Given the description of an element on the screen output the (x, y) to click on. 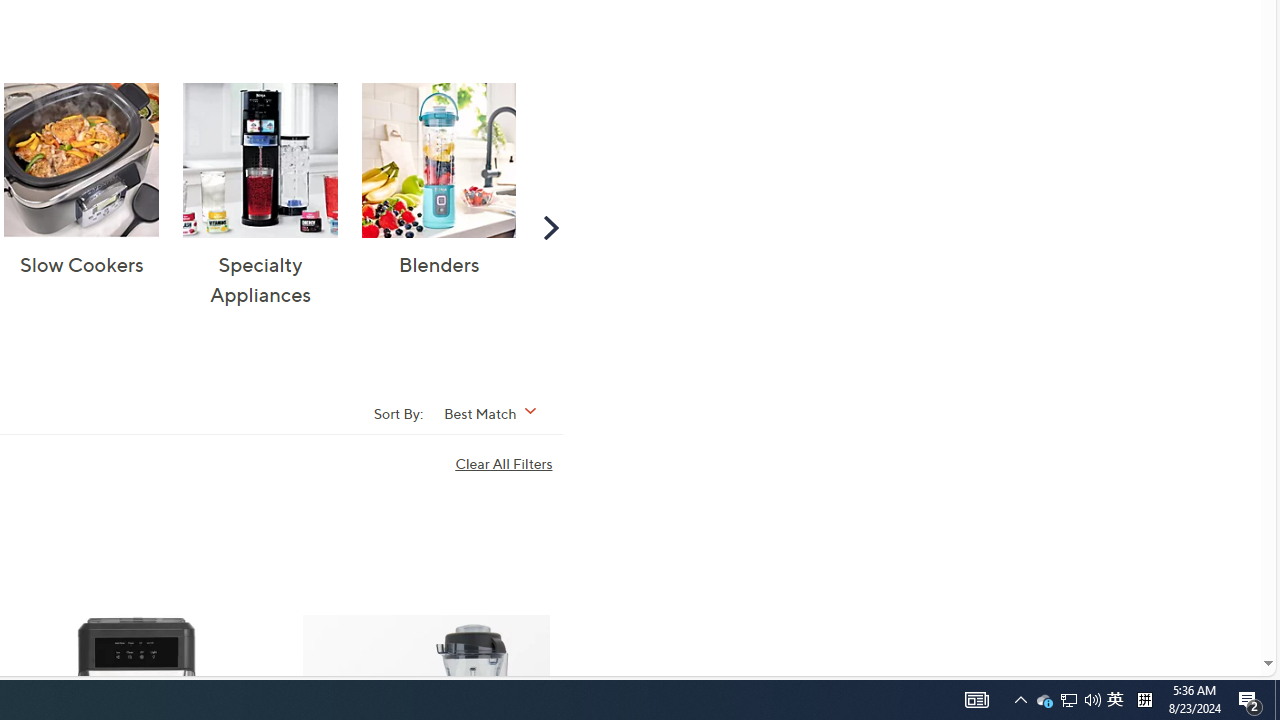
Scroll Right (550, 225)
Specialty Appliances (260, 160)
Clear All Filters (508, 463)
Slow Cookers Slow Cookers (81, 181)
Sort By Best Match (496, 412)
Blenders Blenders (438, 181)
Specialty Appliances Specialty Appliances (260, 196)
Blenders (438, 160)
Slow Cookers (81, 160)
